Given the description of an element on the screen output the (x, y) to click on. 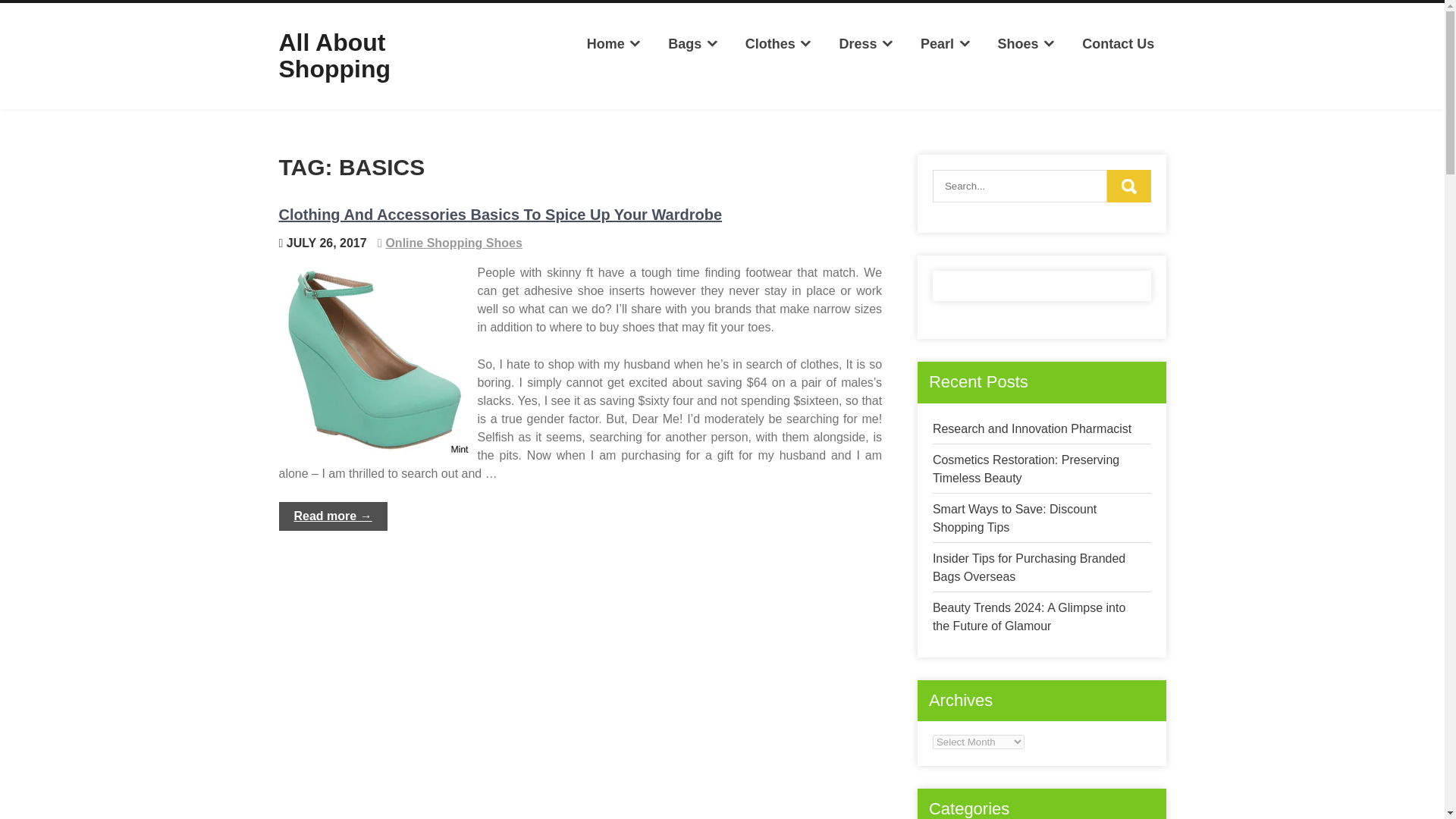
Shoes (1026, 44)
Search (1128, 185)
Online Shopping Shoes (453, 242)
All About Shopping (335, 55)
Clothing And Accessories Basics To Spice Up Your Wardrobe (500, 214)
Dress (866, 44)
Contact Us (1118, 44)
Search (1128, 185)
Bags (693, 44)
Pearl (945, 44)
Home (613, 44)
Clothes (778, 44)
